Given the description of an element on the screen output the (x, y) to click on. 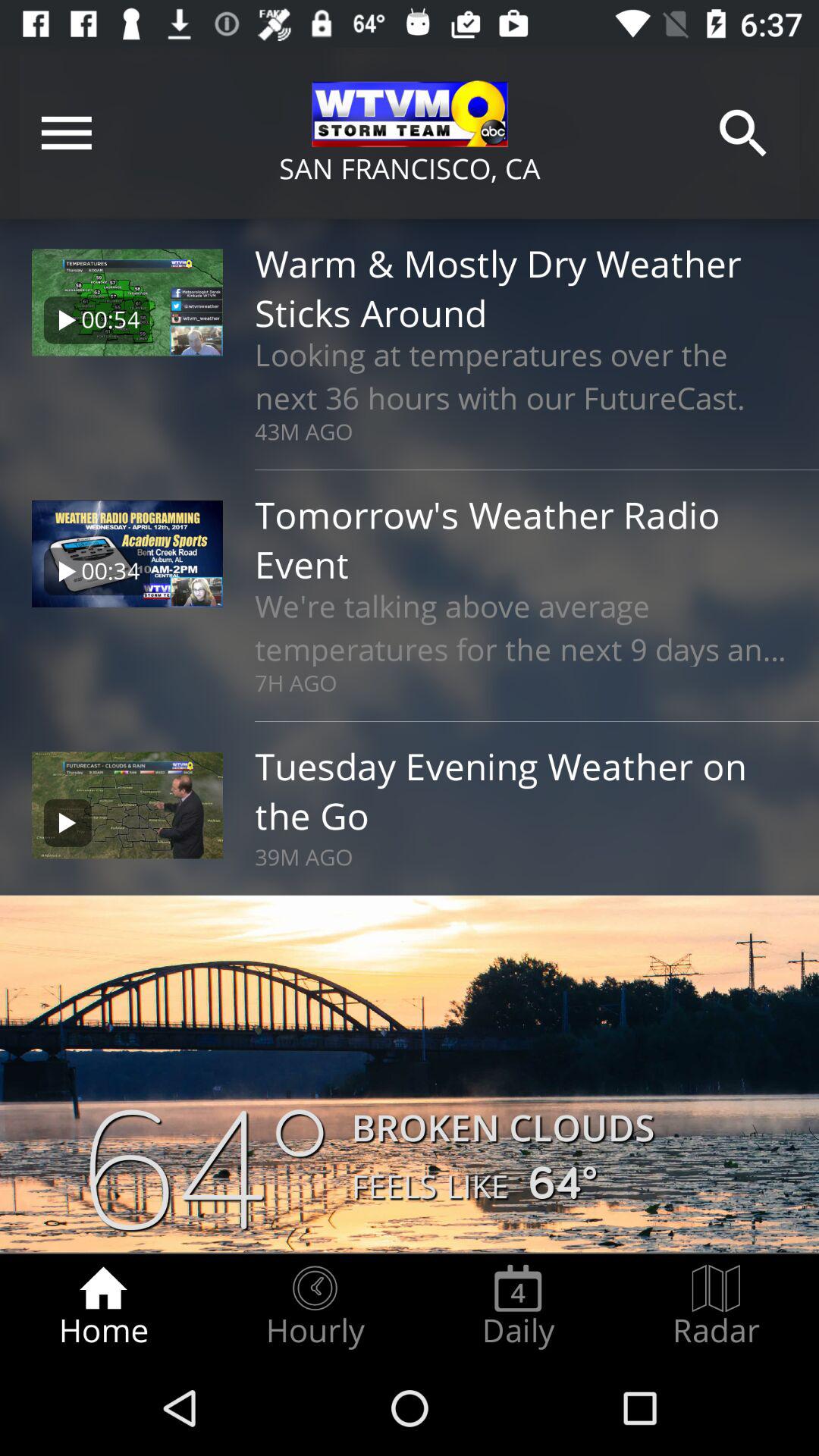
open icon next to home icon (315, 1307)
